Given the description of an element on the screen output the (x, y) to click on. 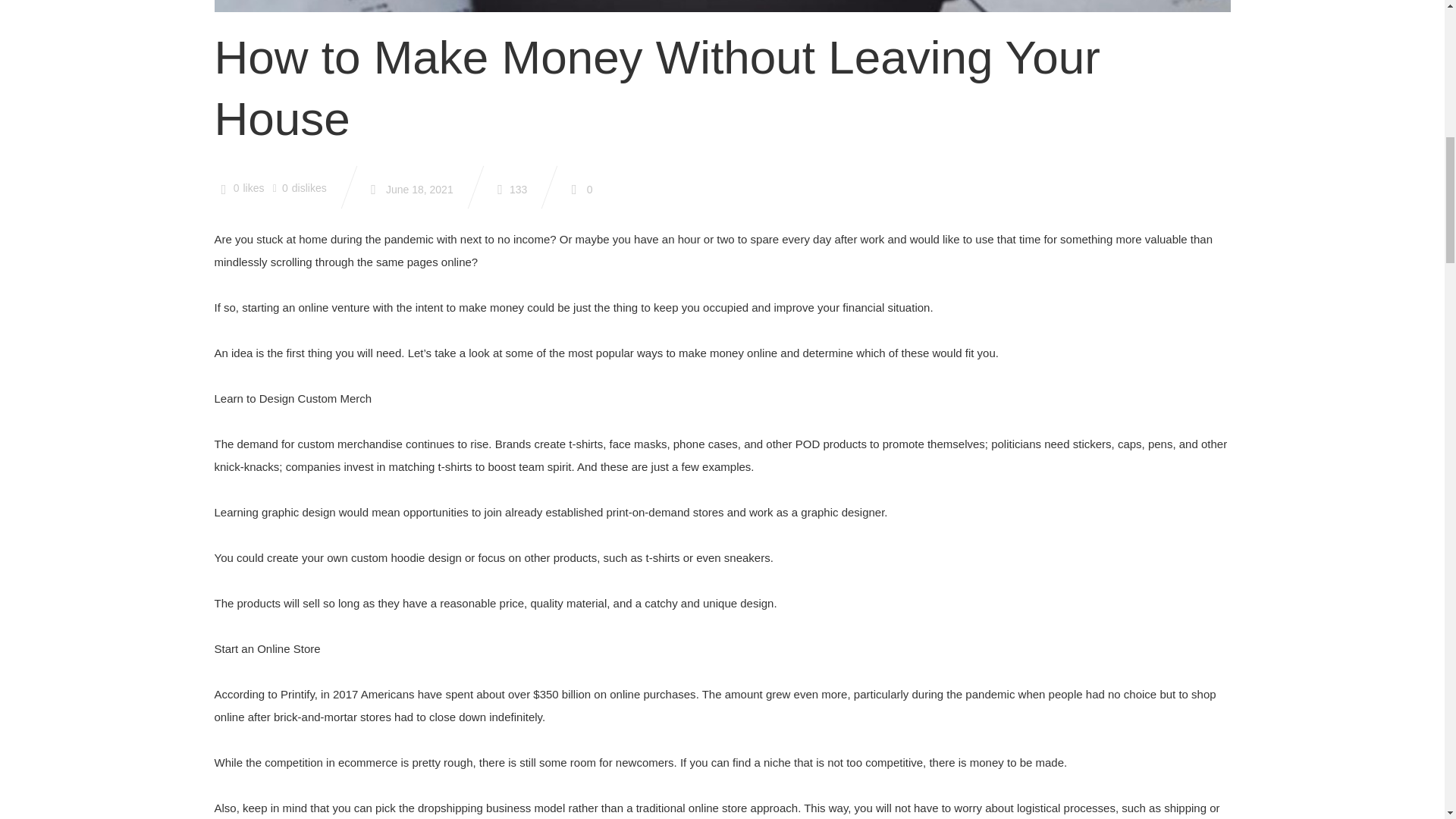
I like this (238, 187)
0dislikes (296, 187)
I dislike this (296, 187)
0likes (238, 187)
